Given the description of an element on the screen output the (x, y) to click on. 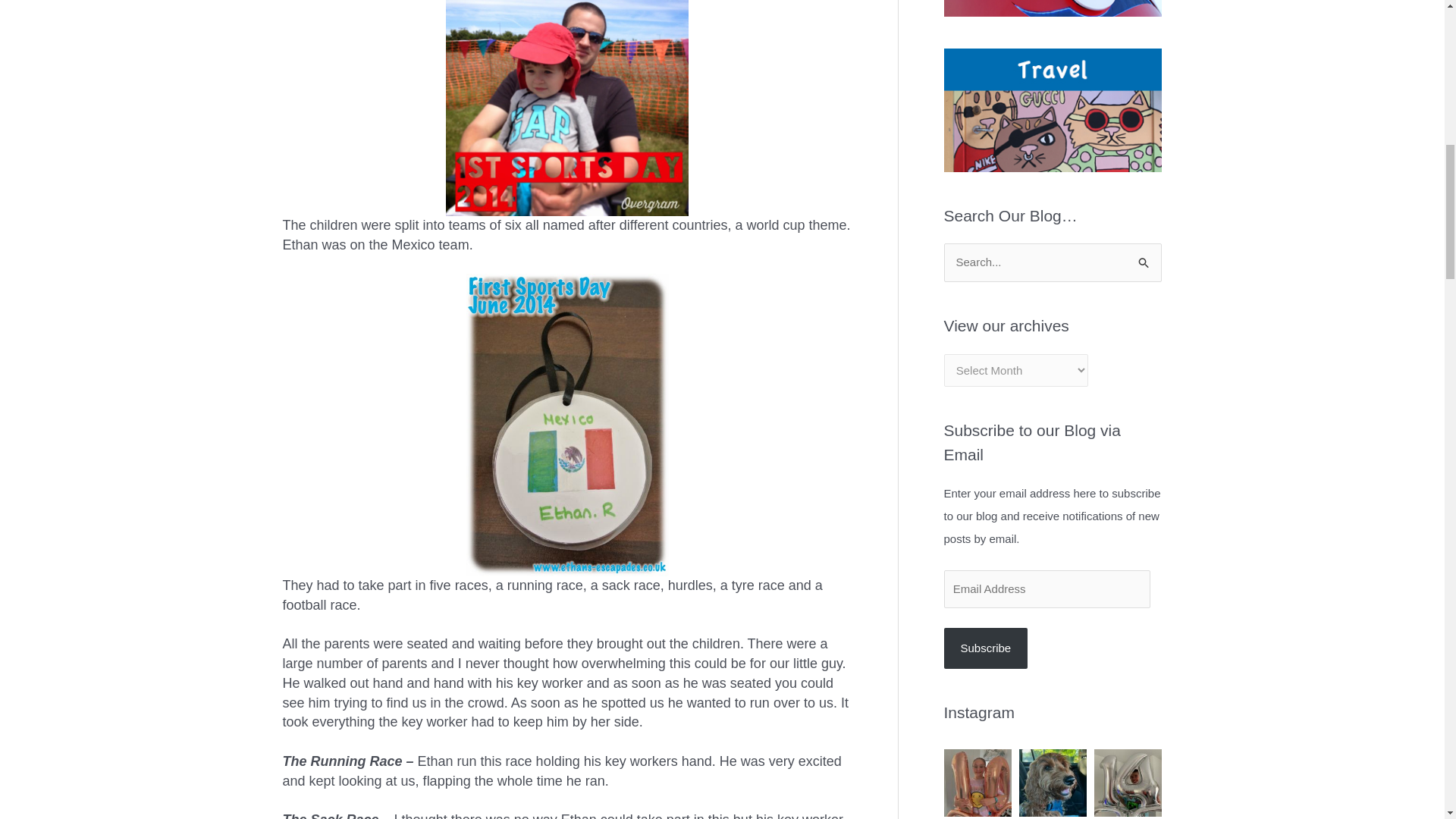
Search (1143, 258)
Search (1143, 258)
